Given the description of an element on the screen output the (x, y) to click on. 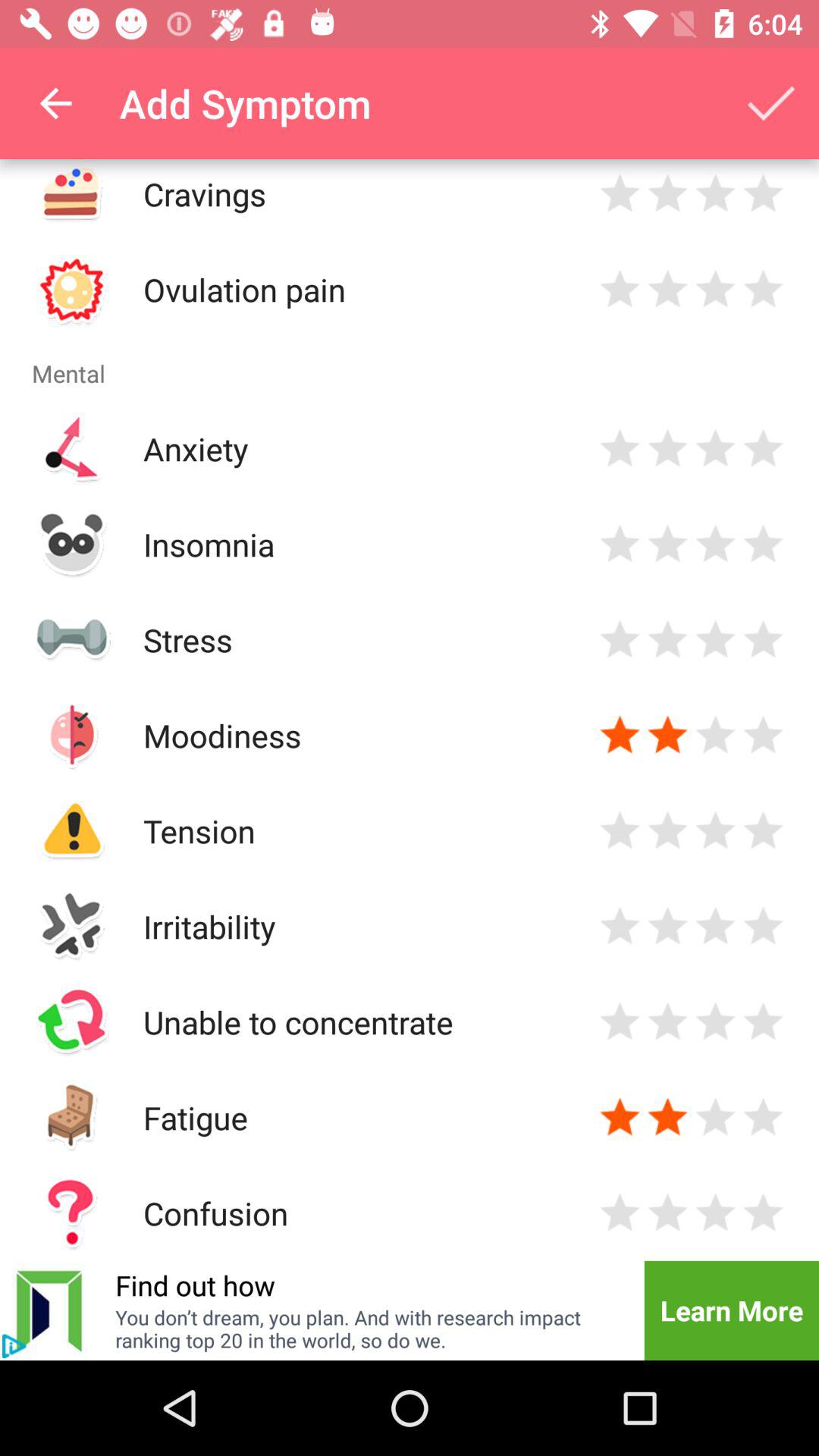
i 'm really confused (715, 1213)
